Given the description of an element on the screen output the (x, y) to click on. 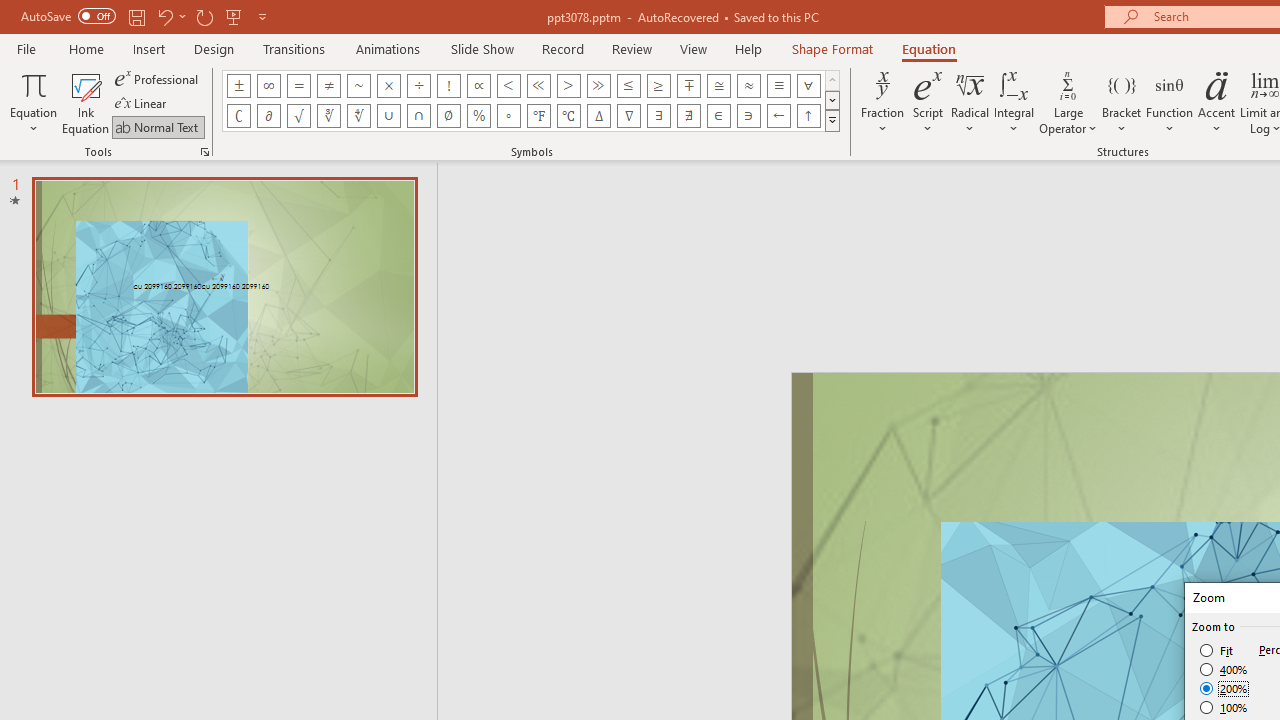
Professional (158, 78)
Equation Symbol Approximately Equal To (718, 85)
Fit (1217, 650)
Equation Symbol Minus Plus (689, 85)
Linear (142, 103)
Equation Symbol Increment (598, 115)
Equation Symbol Up Arrow (808, 115)
Equation Symbol Degrees Celsius (568, 115)
Equation (928, 48)
Equation (33, 102)
Large Operator (1067, 102)
Fraction (882, 102)
